Given the description of an element on the screen output the (x, y) to click on. 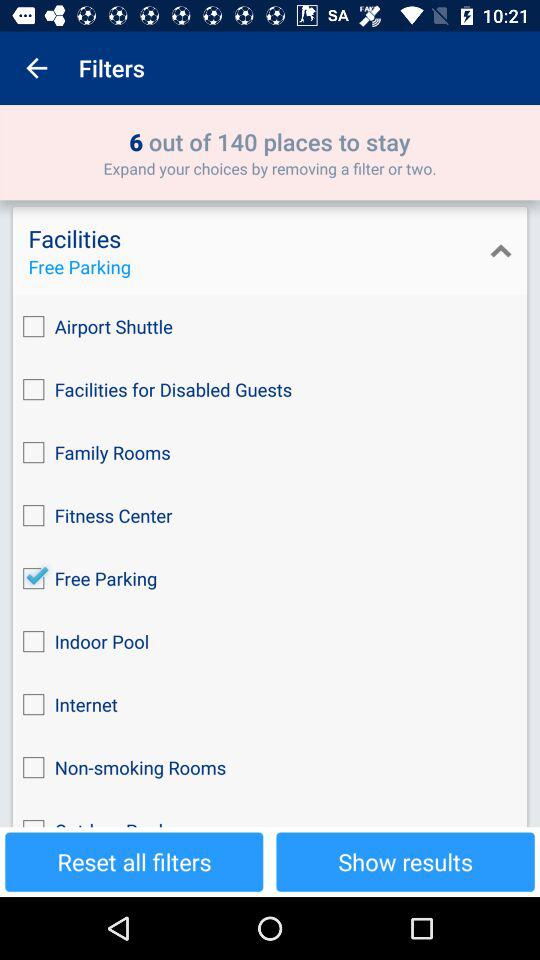
select checkbox above the non-smoking rooms item (269, 704)
